Given the description of an element on the screen output the (x, y) to click on. 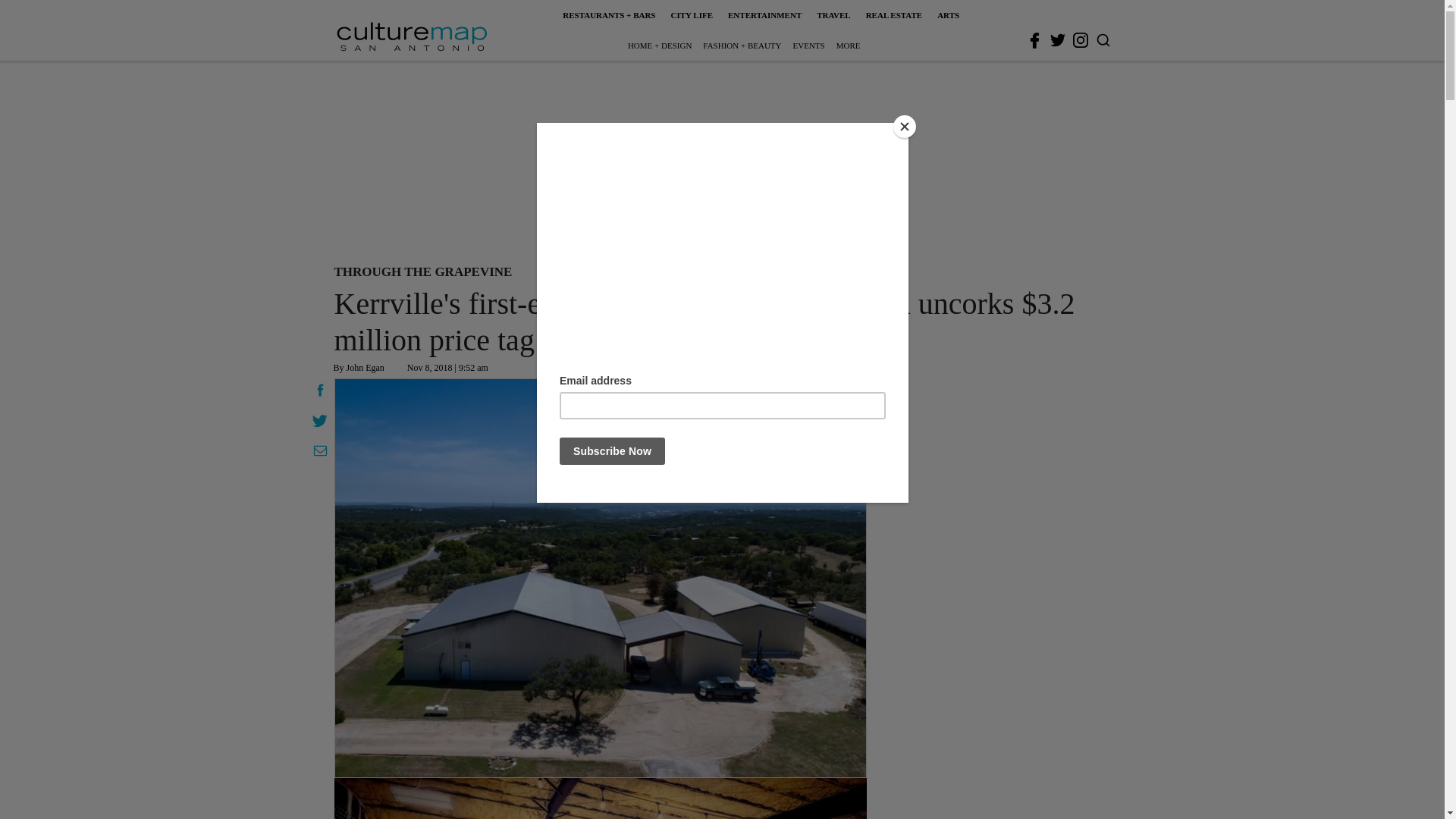
3rd party ad content (721, 160)
